Given the description of an element on the screen output the (x, y) to click on. 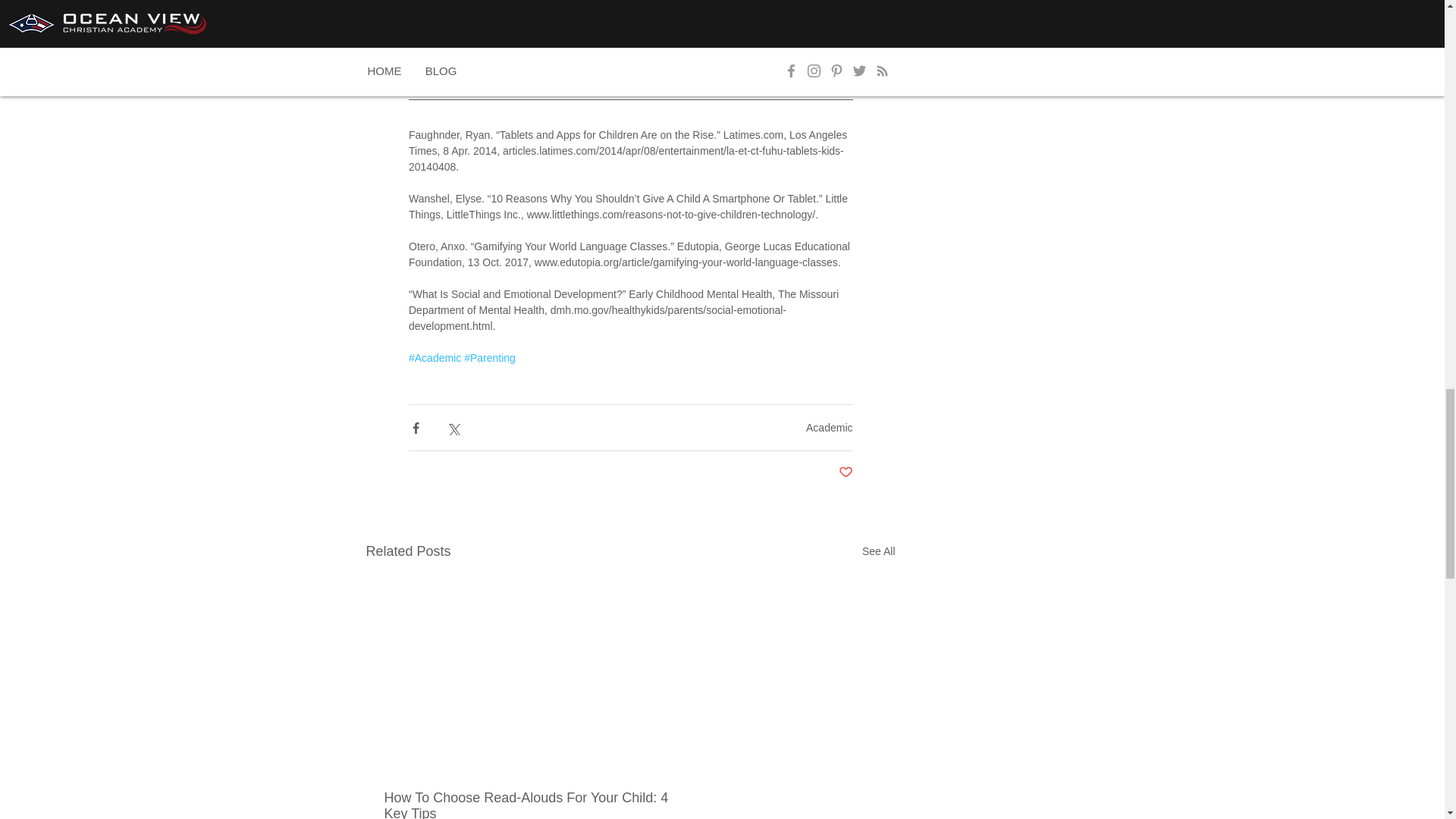
How To Choose Read-Alouds For Your Child: 4 Key Tips (537, 804)
See All (878, 551)
Post not marked as liked (845, 472)
Academic (828, 427)
